Given the description of an element on the screen output the (x, y) to click on. 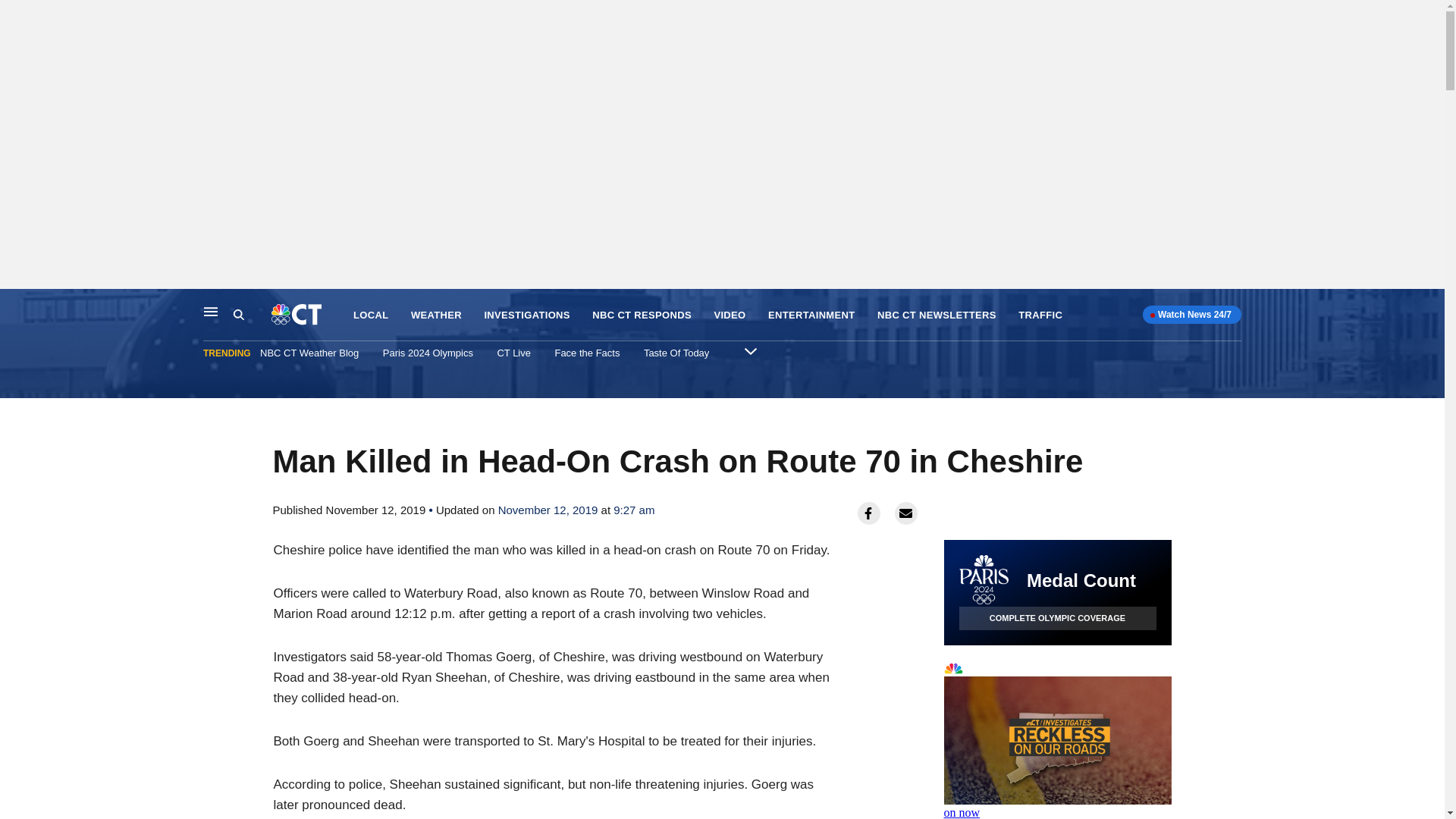
CT Live (513, 352)
Expand (750, 350)
Paris 2024 Olympics (427, 352)
VIDEO (729, 315)
Main Navigation (210, 311)
TRAFFIC (1039, 315)
NBC CT Weather Blog (309, 352)
NBC CT NEWSLETTERS (936, 315)
Face the Facts (587, 352)
NBC CT RESPONDS (641, 315)
